Given the description of an element on the screen output the (x, y) to click on. 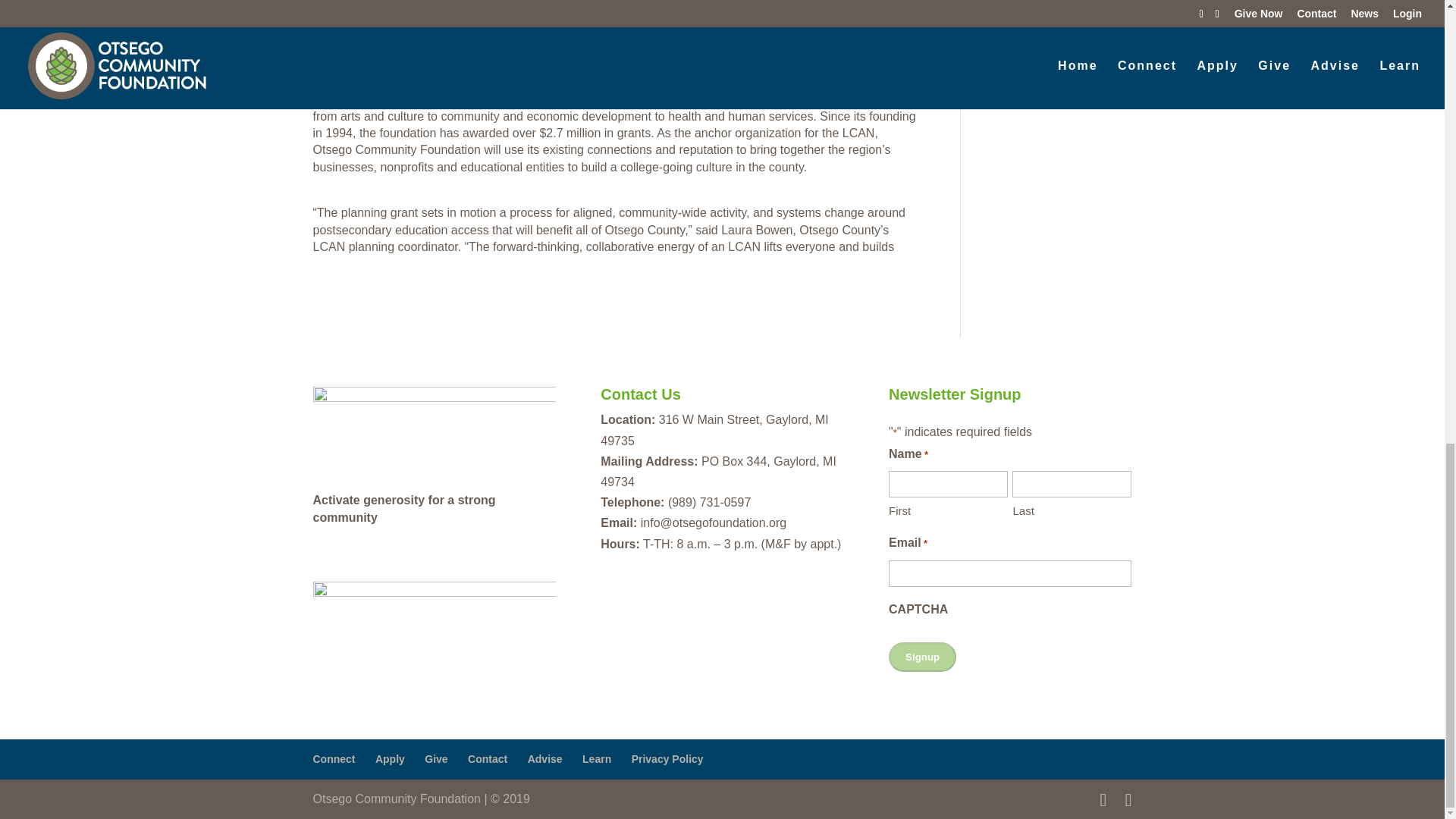
Signup (922, 656)
Contact (486, 758)
Privacy Policy (667, 758)
Learn (596, 758)
Connect (334, 758)
Give (435, 758)
Apply (389, 758)
Advise (544, 758)
Signup (922, 656)
